Given the description of an element on the screen output the (x, y) to click on. 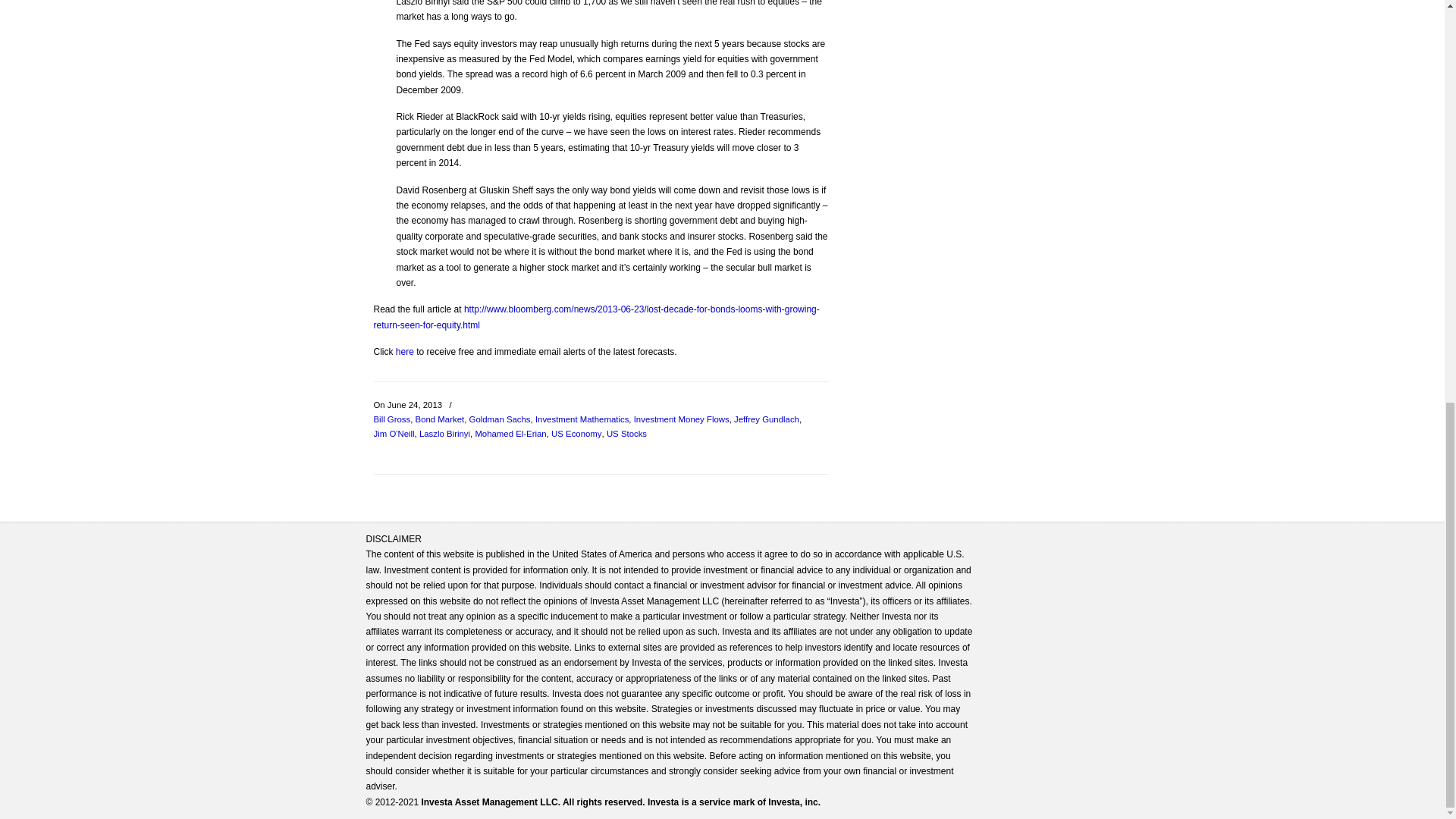
here (404, 351)
Investment Money Flows (681, 419)
Investment Mathematics (581, 419)
Jim O'Neill (392, 433)
Jeffrey Gundlach (766, 419)
Laszlo Birinyi (444, 433)
Mohamed El-Erian (510, 433)
Goldman Sachs (499, 419)
US Economy (576, 433)
US Stocks (626, 433)
Bond Market (439, 419)
Bill Gross (391, 419)
